Given the description of an element on the screen output the (x, y) to click on. 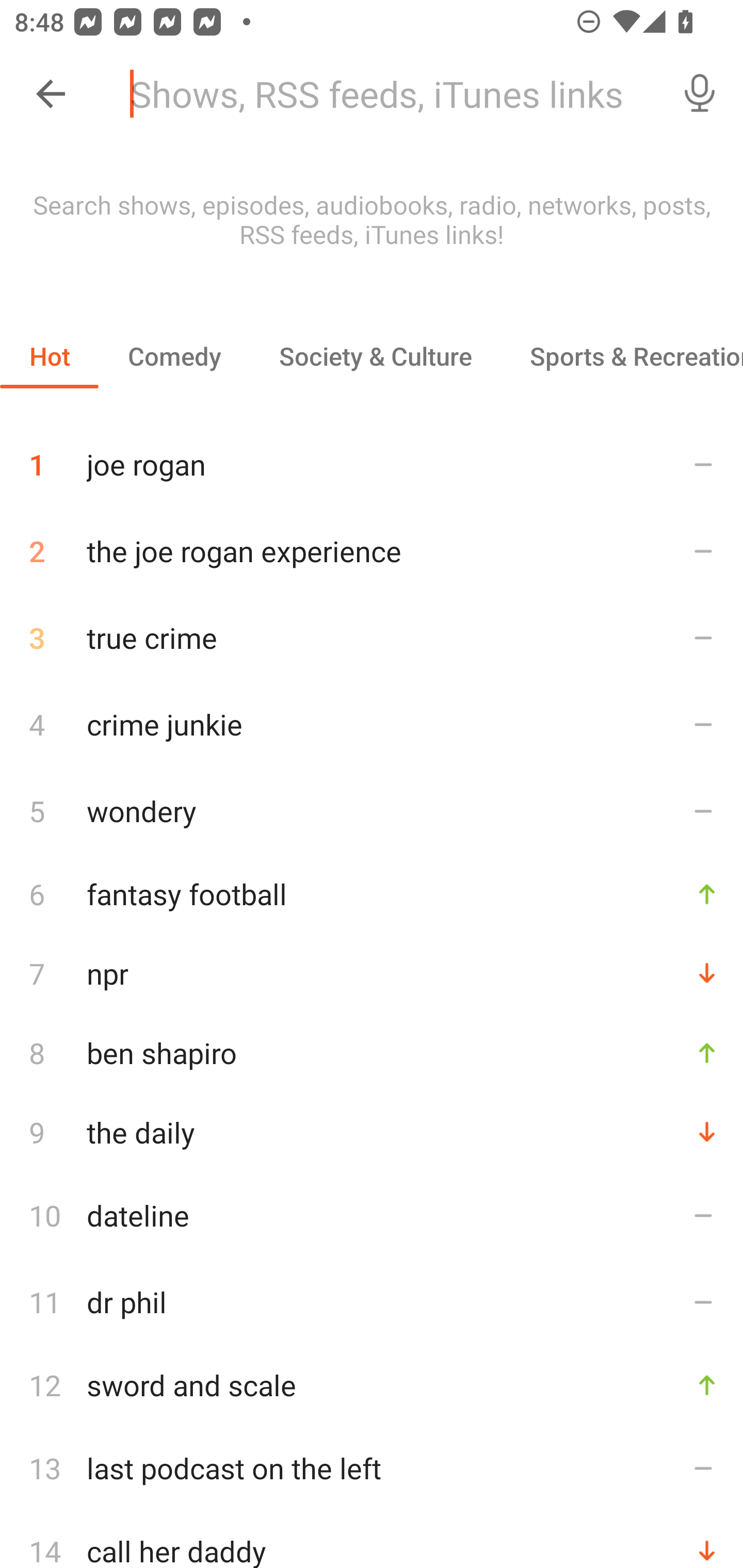
Collapse (50, 93)
Voice Search (699, 93)
Shows, RSS feeds, iTunes links (385, 94)
Hot (49, 355)
Comedy (173, 355)
Society & Culture (374, 355)
Sports & Recreation (621, 355)
1 joe rogan (371, 457)
2 the joe rogan experience (371, 551)
3 true crime (371, 637)
4 crime junkie (371, 723)
5 wondery (371, 810)
6 fantasy football (371, 893)
7 npr (371, 972)
8 ben shapiro (371, 1052)
9 the daily (371, 1131)
10 dateline (371, 1215)
11 dr phil (371, 1302)
12 sword and scale (371, 1385)
13 last podcast on the left (371, 1468)
14 call her daddy (371, 1539)
